Given the description of an element on the screen output the (x, y) to click on. 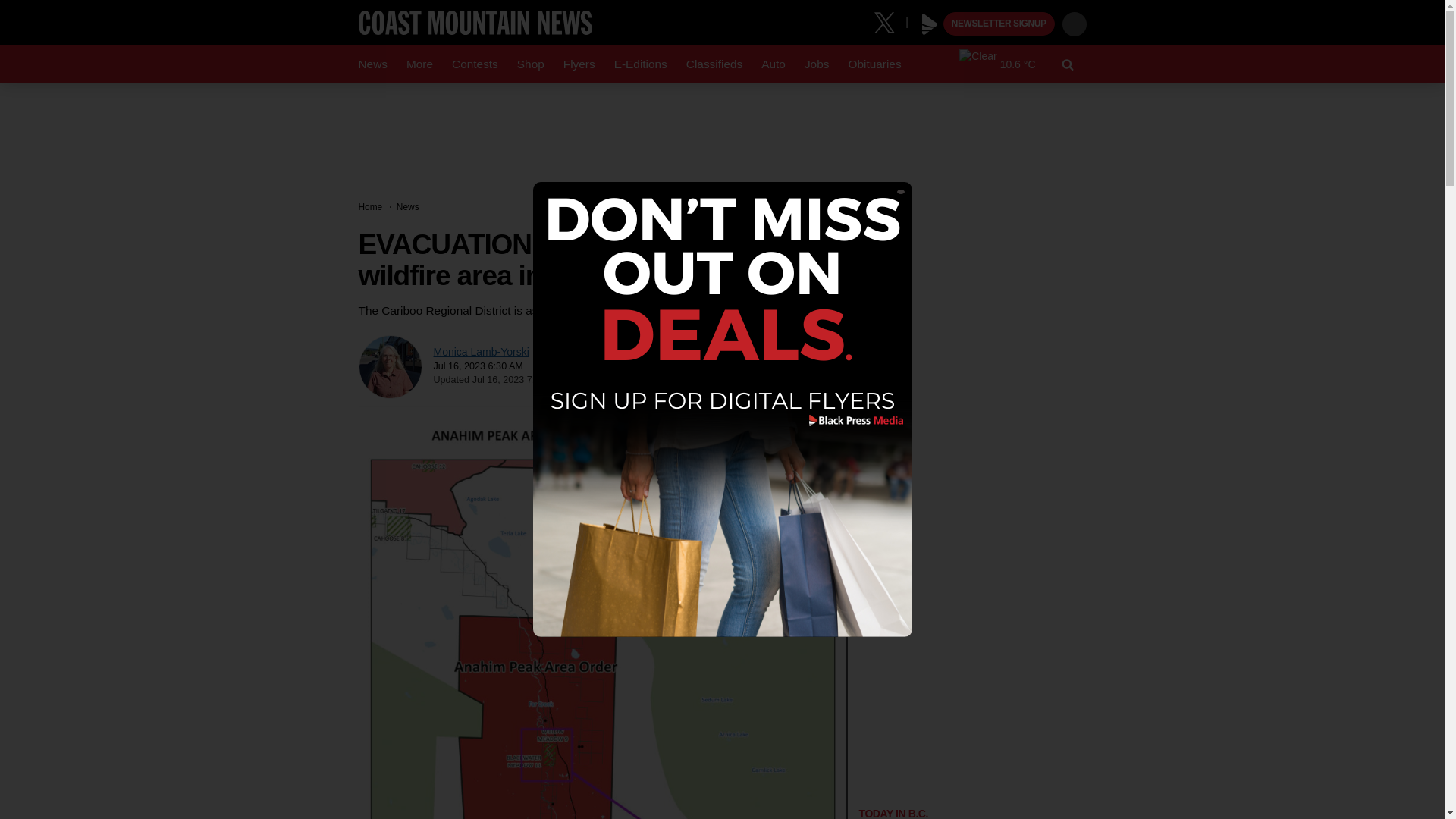
X (889, 21)
Play (929, 24)
Black Press Media (929, 24)
NEWSLETTER SIGNUP (998, 24)
News (372, 64)
